Given the description of an element on the screen output the (x, y) to click on. 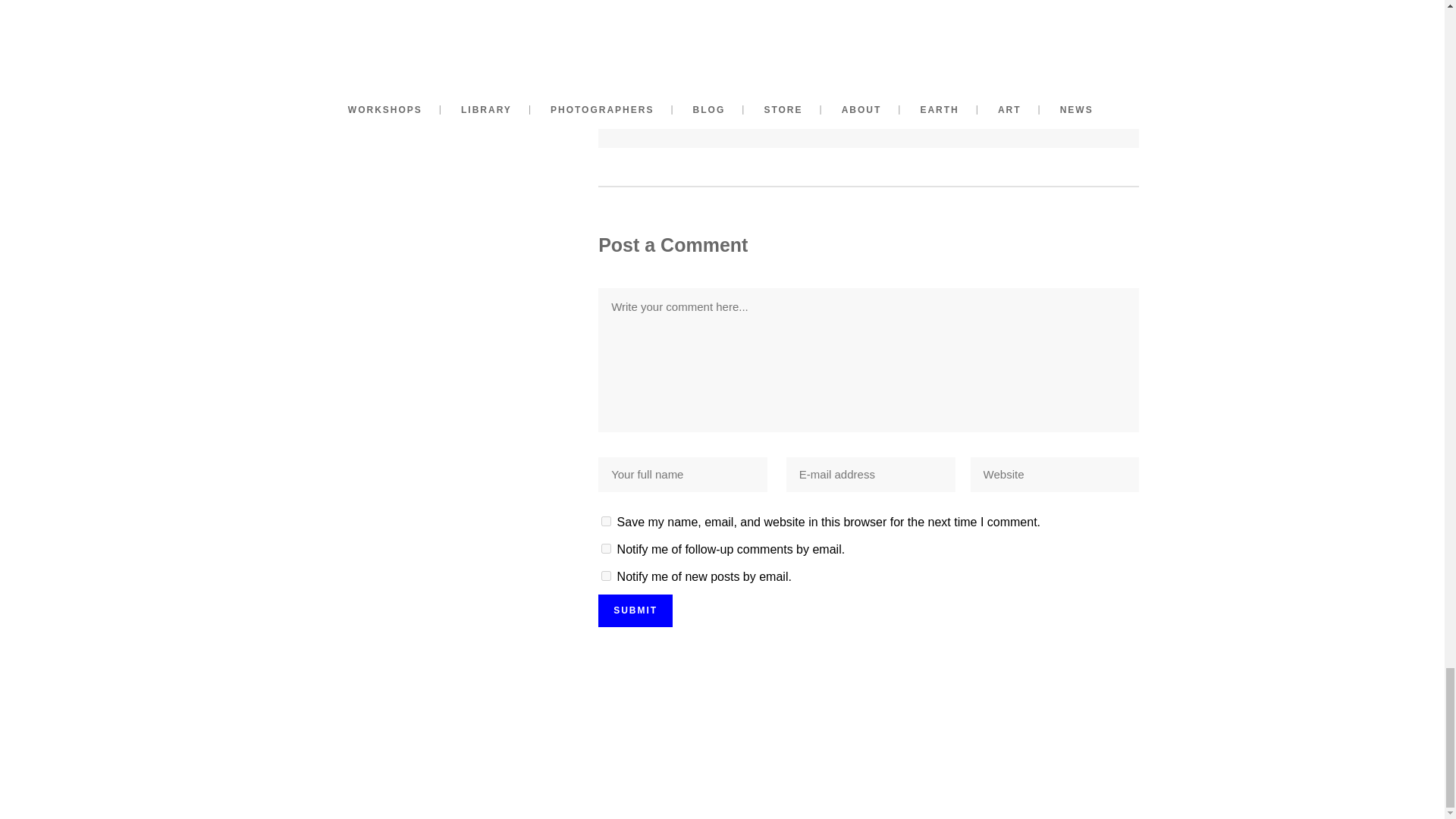
yes (606, 521)
subscribe (606, 575)
Submit (635, 610)
subscribe (606, 548)
